Given the description of an element on the screen output the (x, y) to click on. 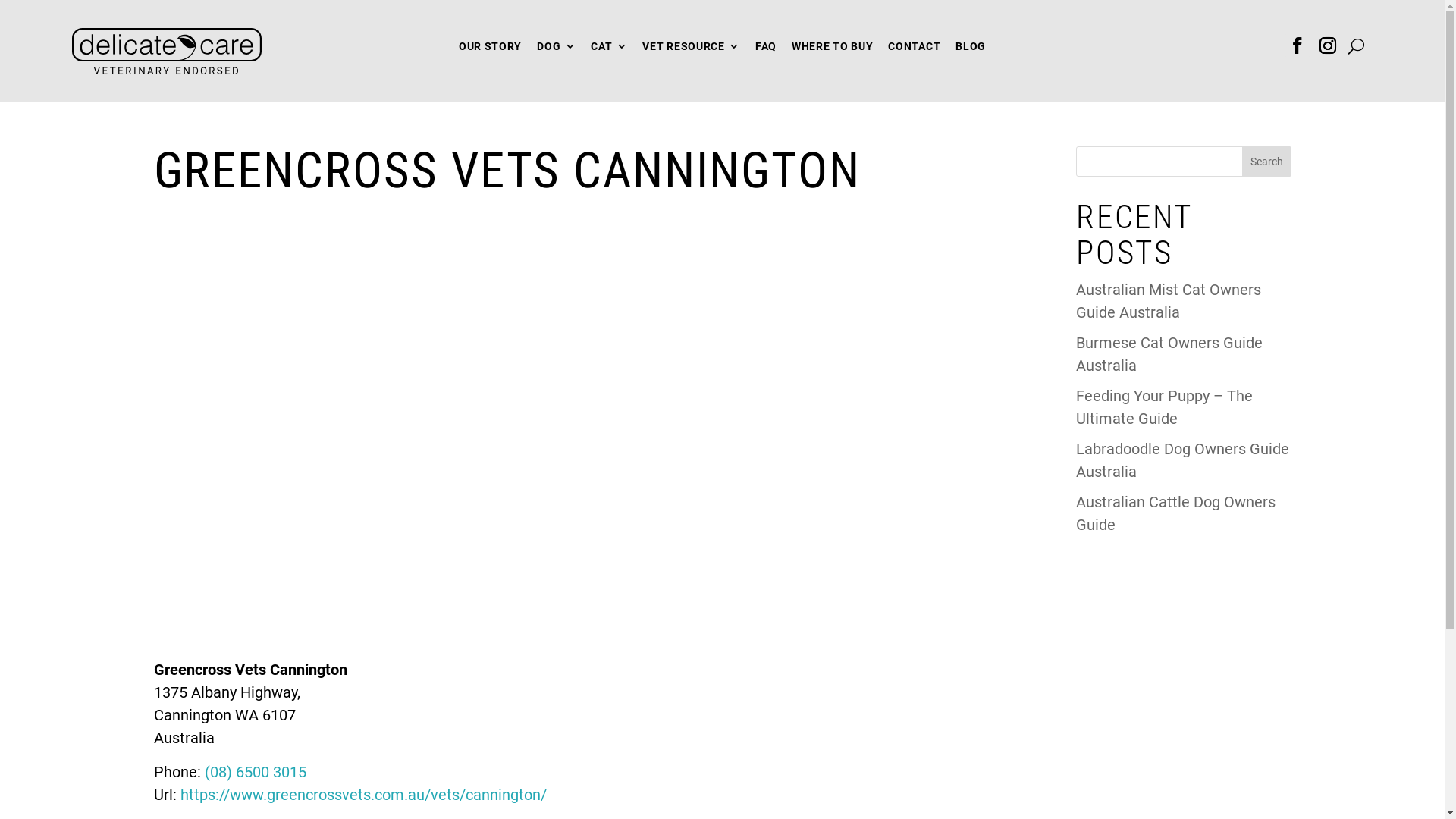
(08) 6500 3015 Element type: text (255, 771)
Burmese Cat Owners Guide Australia Element type: text (1169, 353)
Labradoodle Dog Owners Guide Australia Element type: text (1182, 459)
WHERE TO BUY Element type: text (831, 49)
https://www.greencrossvets.com.au/vets/cannington/ Element type: text (363, 794)
CONTACT Element type: text (914, 49)
BLOG Element type: text (970, 49)
OUR STORY Element type: text (489, 49)
DOG Element type: text (555, 49)
CAT Element type: text (608, 49)
VET RESOURCE Element type: text (690, 49)
Australian Mist Cat Owners Guide Australia Element type: text (1168, 300)
Search Element type: text (1266, 161)
Follow on Facebook Element type: hover (1297, 45)
logo Element type: hover (166, 51)
FAQ Element type: text (765, 49)
Australian Cattle Dog Owners Guide Element type: text (1175, 512)
Follow on Instagram Element type: hover (1327, 45)
